Given the description of an element on the screen output the (x, y) to click on. 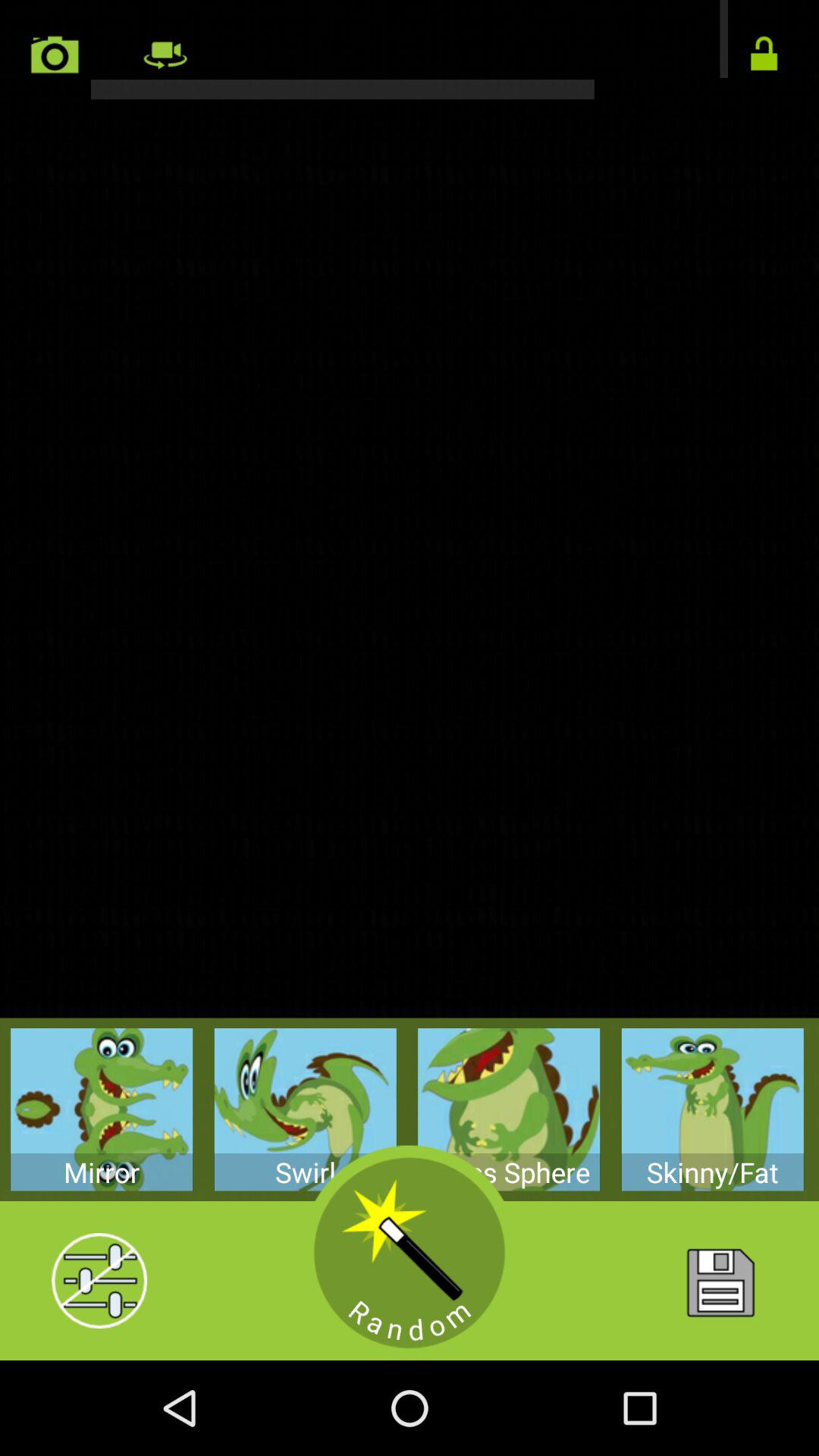
open secure mode (764, 54)
